Given the description of an element on the screen output the (x, y) to click on. 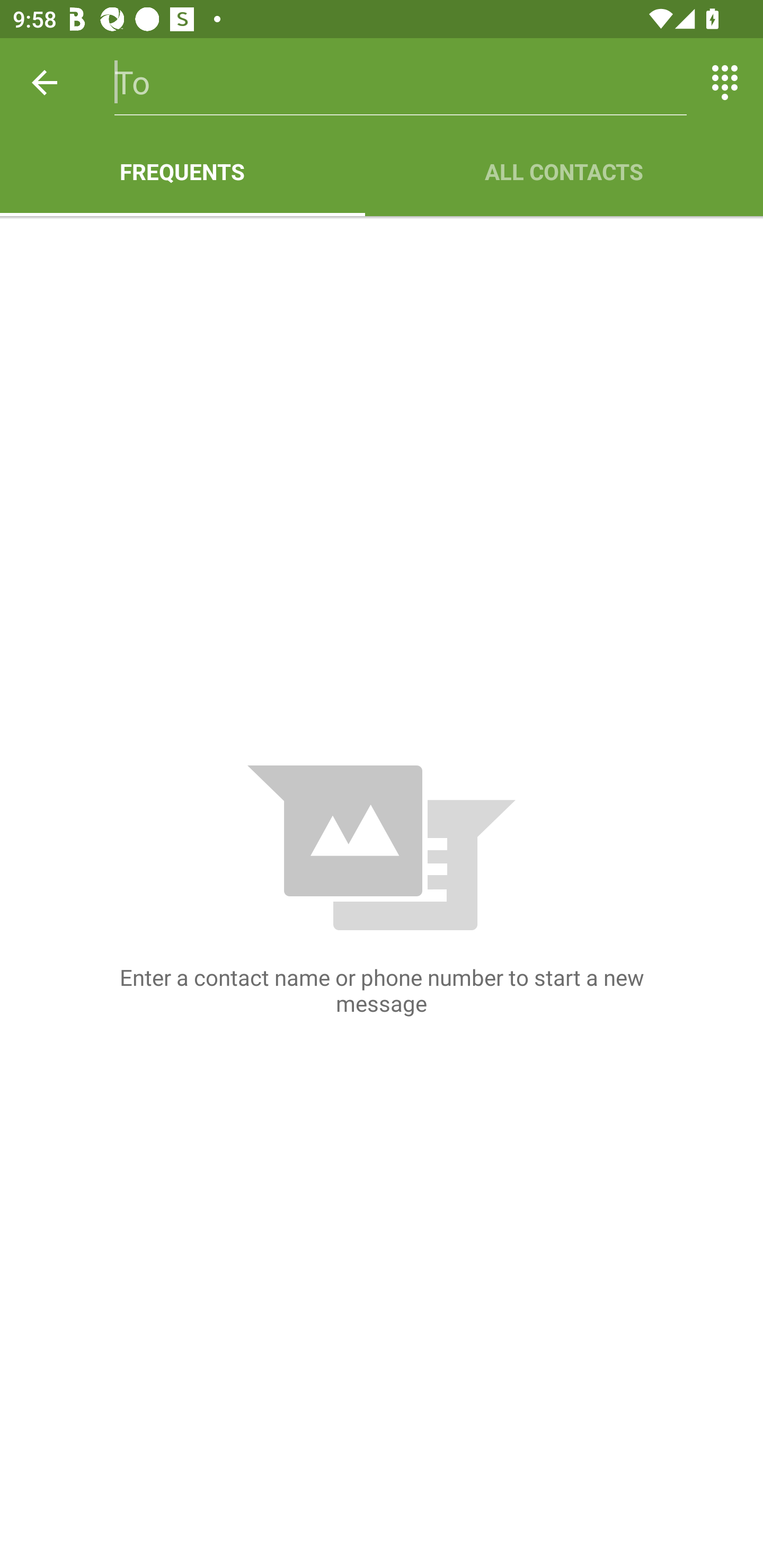
Back (44, 82)
Switch between entering text and numbers (724, 81)
To (400, 82)
FREQUENTS (182, 171)
ALL CONTACTS (563, 171)
